Given the description of an element on the screen output the (x, y) to click on. 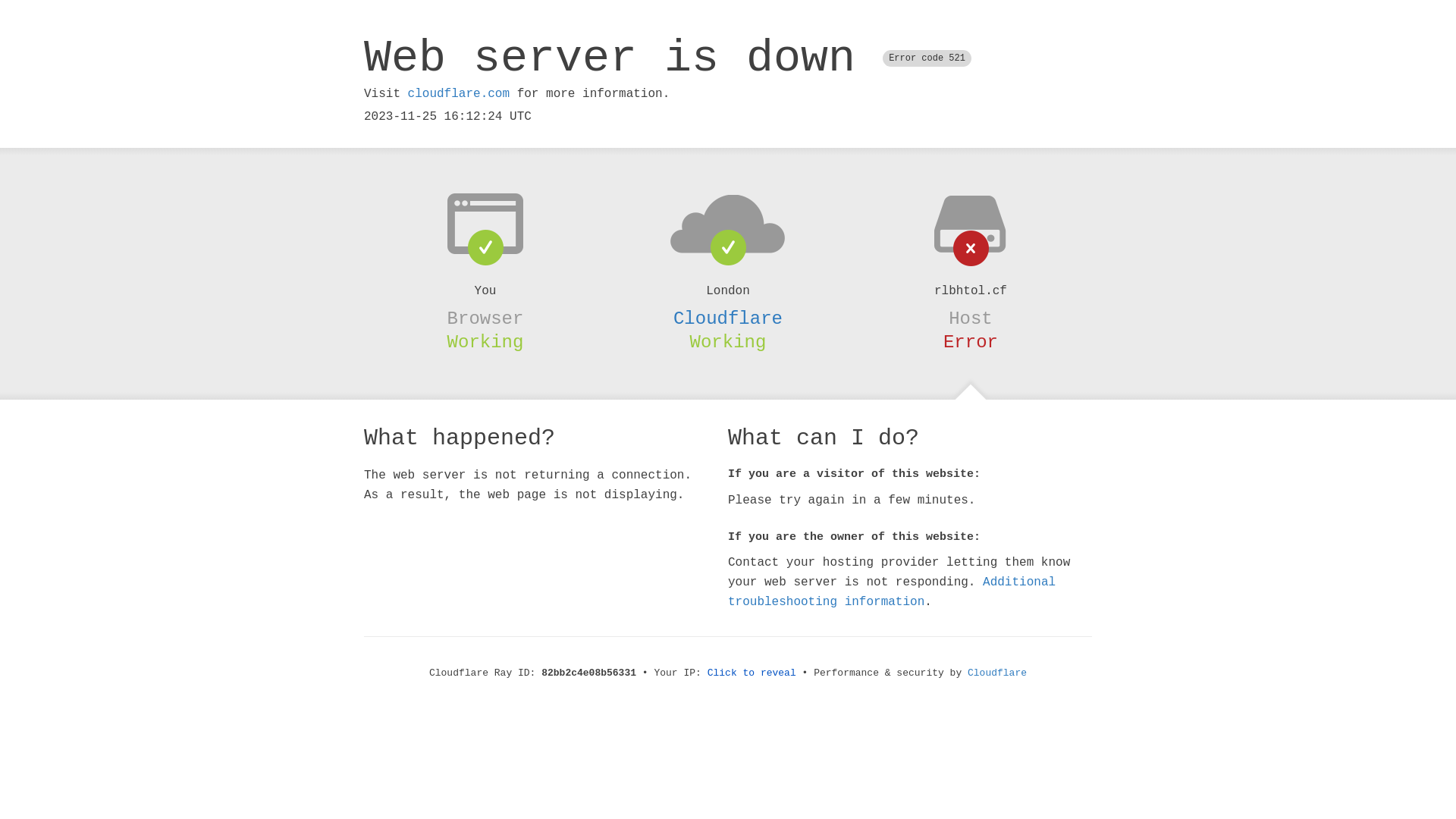
Cloudflare Element type: text (727, 318)
Additional troubleshooting information Element type: text (891, 591)
Click to reveal Element type: text (751, 672)
Cloudflare Element type: text (996, 672)
cloudflare.com Element type: text (458, 93)
